Given the description of an element on the screen output the (x, y) to click on. 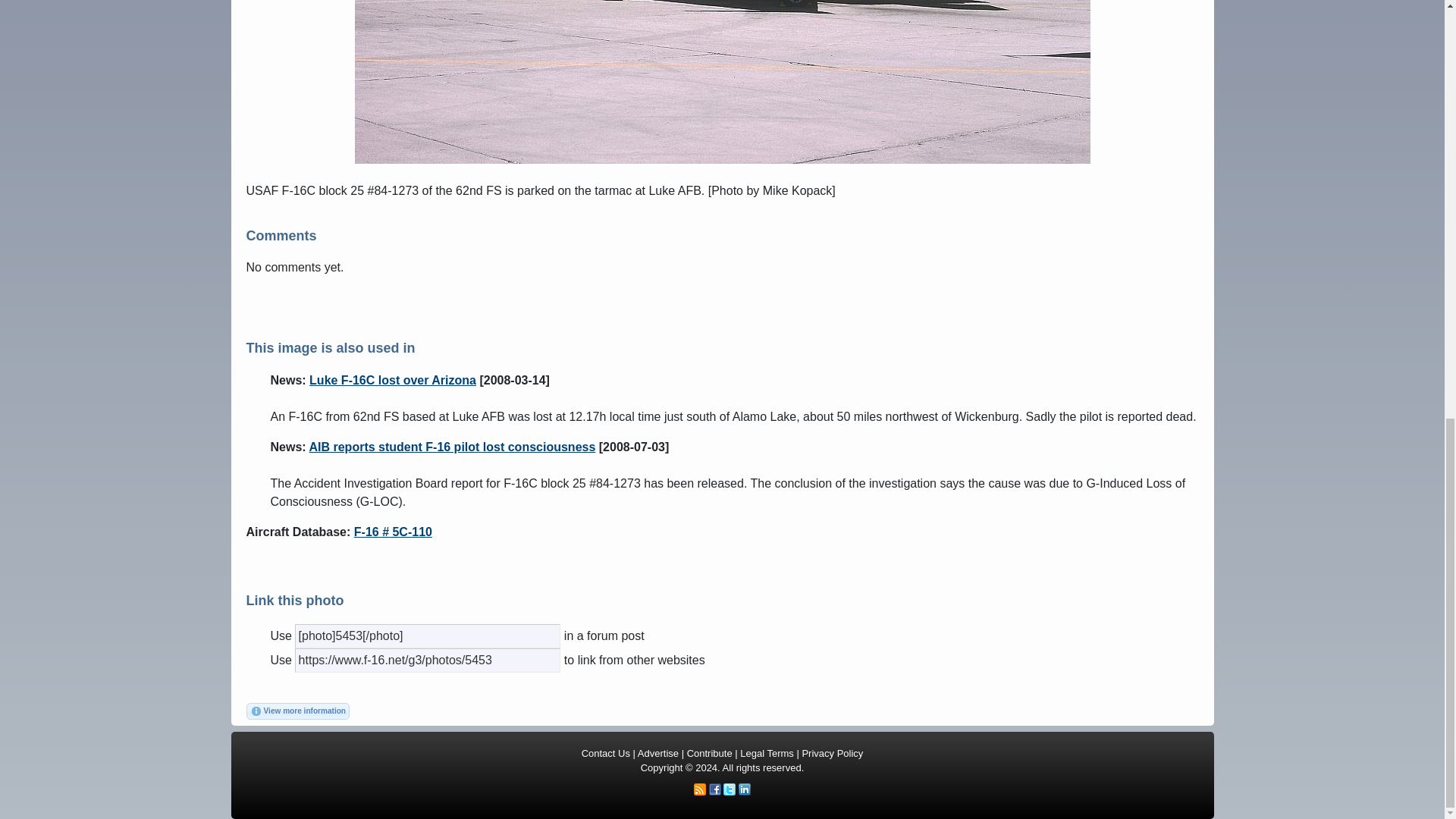
Pro's, join us on LinkedIn (744, 788)
Subscribe via RSS (700, 788)
Advertise on F-16.net (657, 753)
We need your help! (709, 753)
Follow us on Twitter (729, 788)
Photo details (297, 710)
Follow us on Facebook (714, 788)
